Given the description of an element on the screen output the (x, y) to click on. 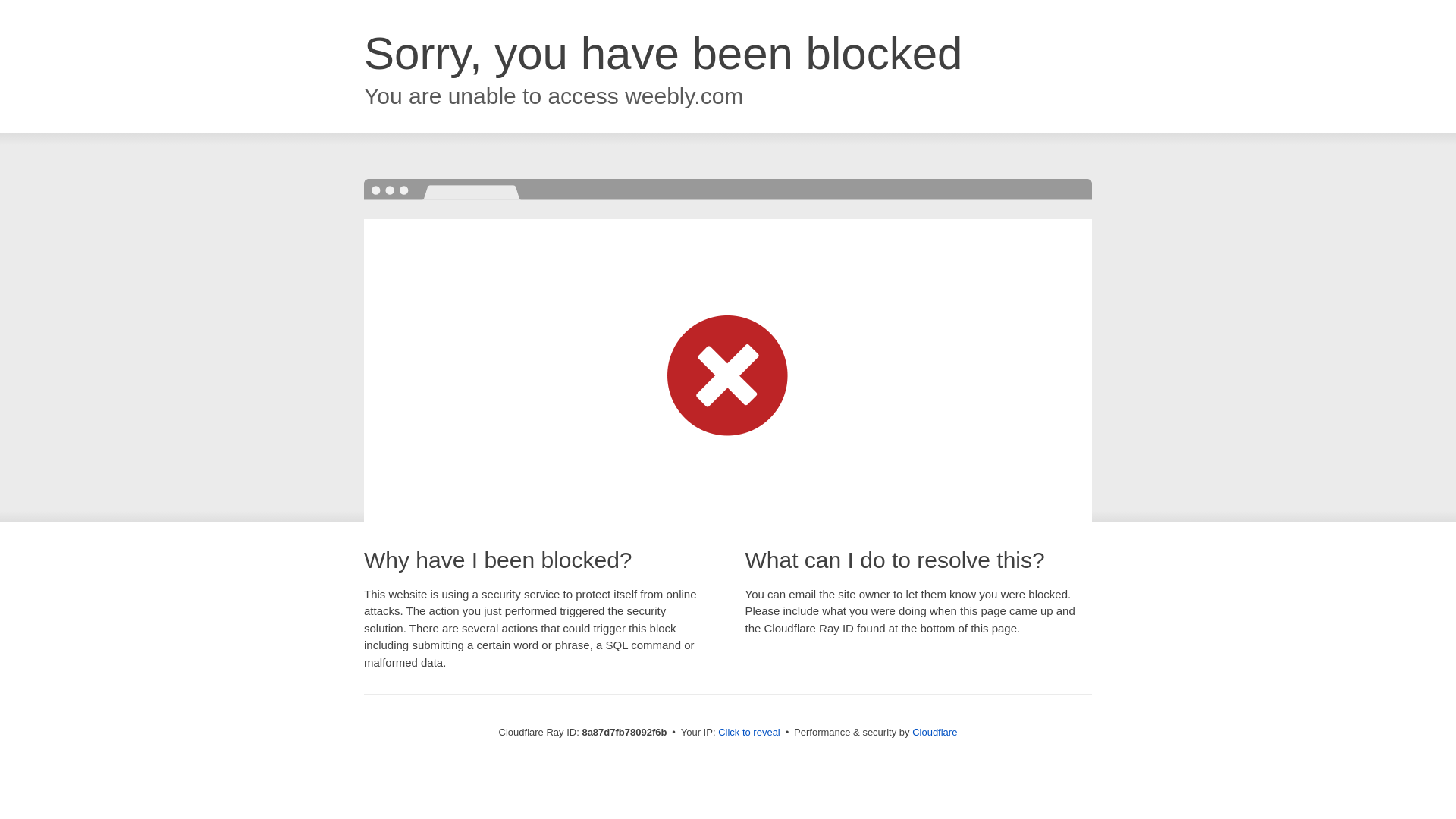
Cloudflare (934, 731)
Click to reveal (748, 732)
